Given the description of an element on the screen output the (x, y) to click on. 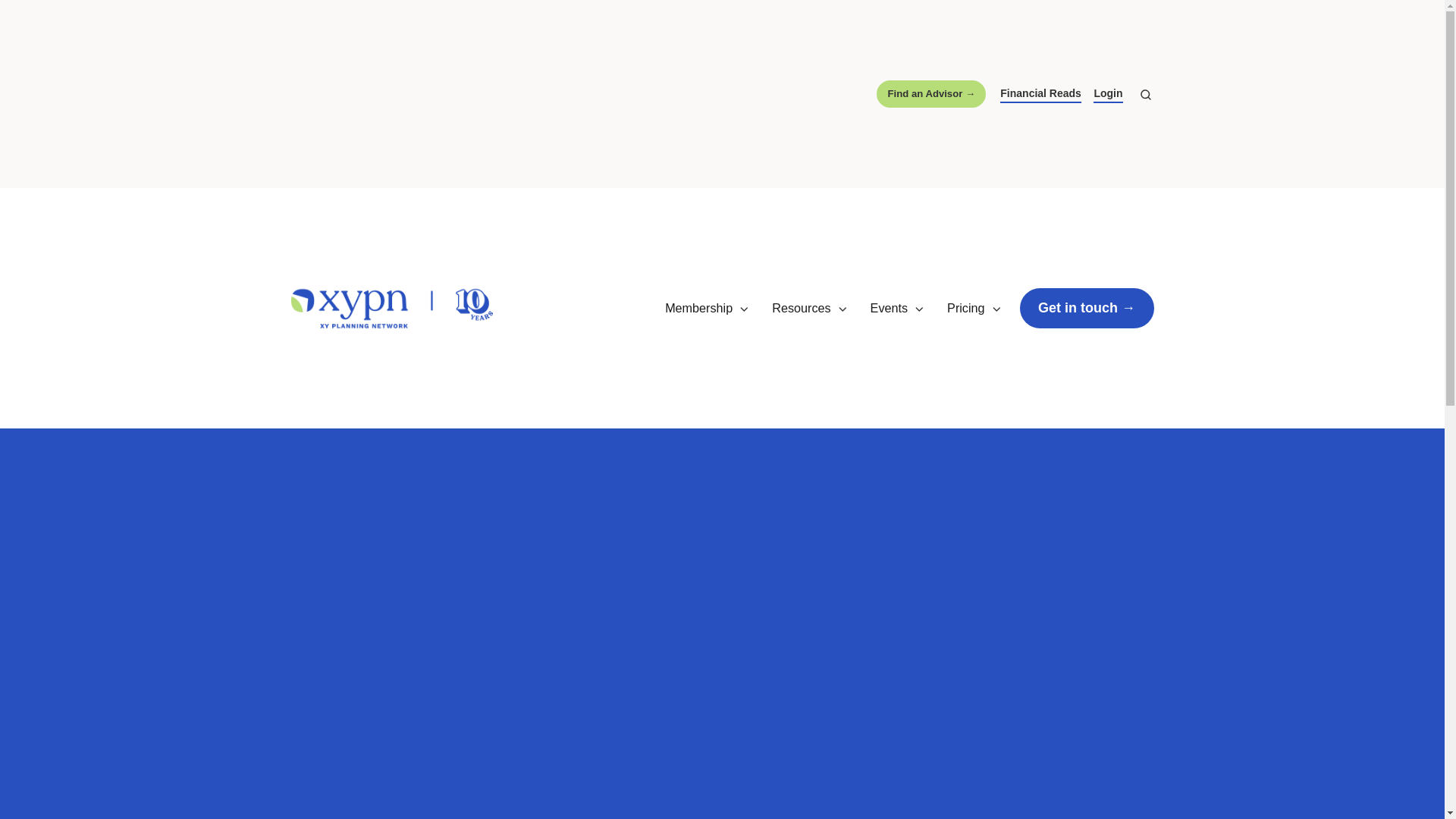
Membership (707, 307)
Login (1107, 94)
Financial Reads (1040, 94)
Events (897, 307)
Pricing (974, 307)
Resources (809, 307)
